Given the description of an element on the screen output the (x, y) to click on. 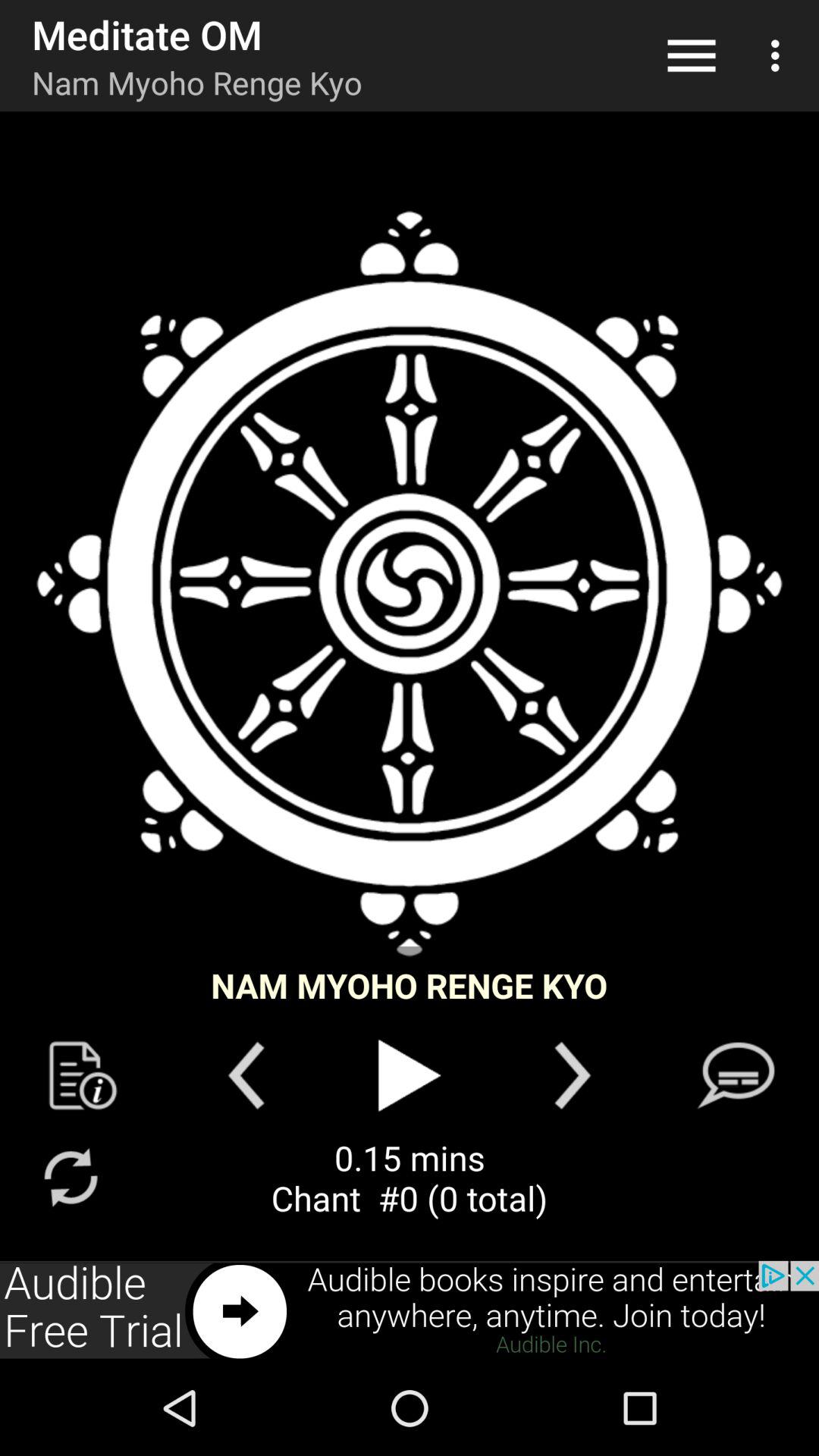
seeing in the image (409, 583)
